Given the description of an element on the screen output the (x, y) to click on. 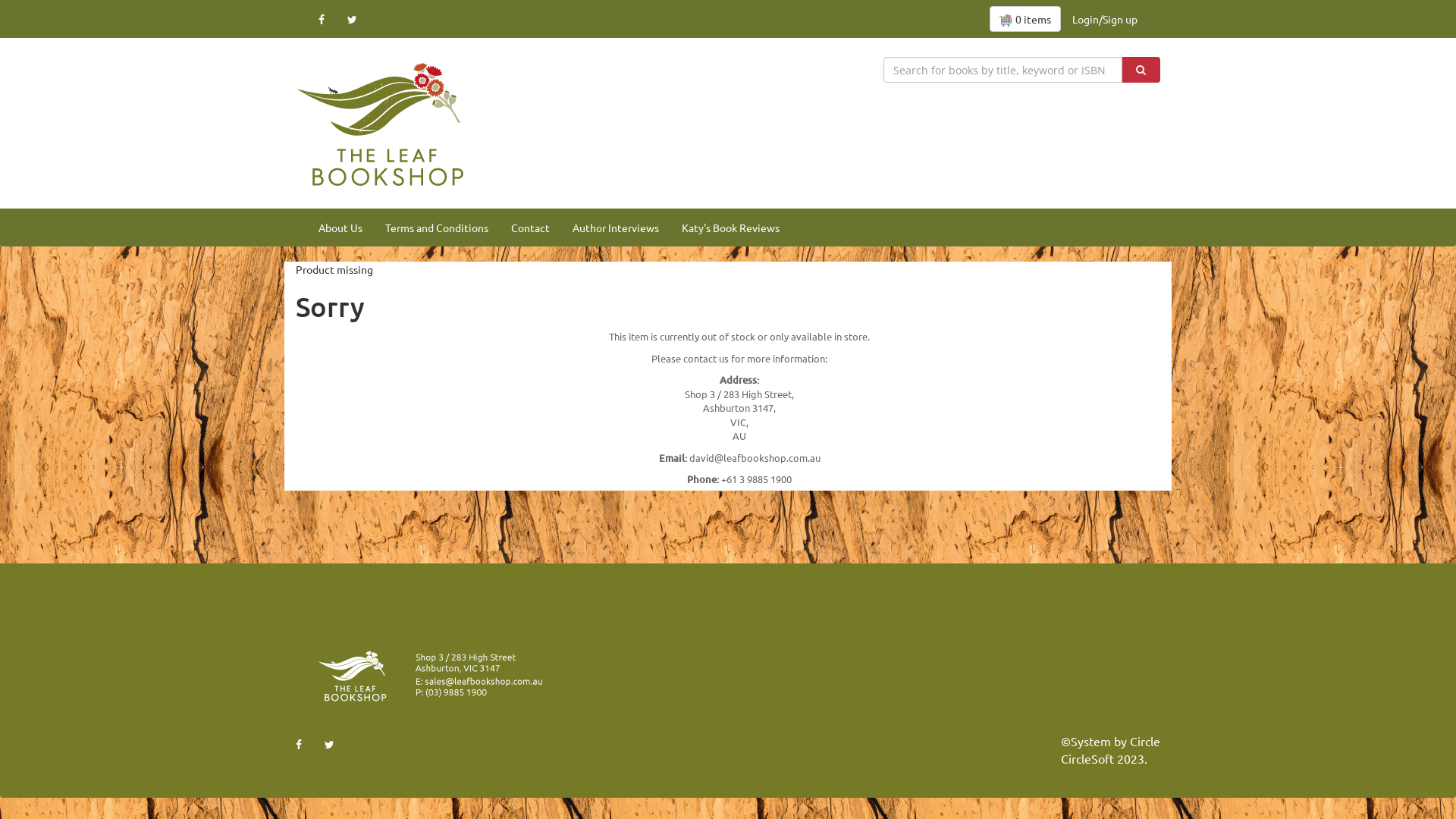
Contact Element type: text (530, 227)
0 items Element type: text (1024, 18)
About Us Element type: text (340, 227)
david@leafbookshop.com.au Element type: text (753, 457)
Terms and Conditions Element type: text (436, 227)
Katy's Book Reviews Element type: text (730, 227)
System by Circle Element type: text (1115, 740)
Author Interviews Element type: text (615, 227)
0 items Element type: text (1024, 18)
Login/Sign up Element type: text (1104, 18)
